Given the description of an element on the screen output the (x, y) to click on. 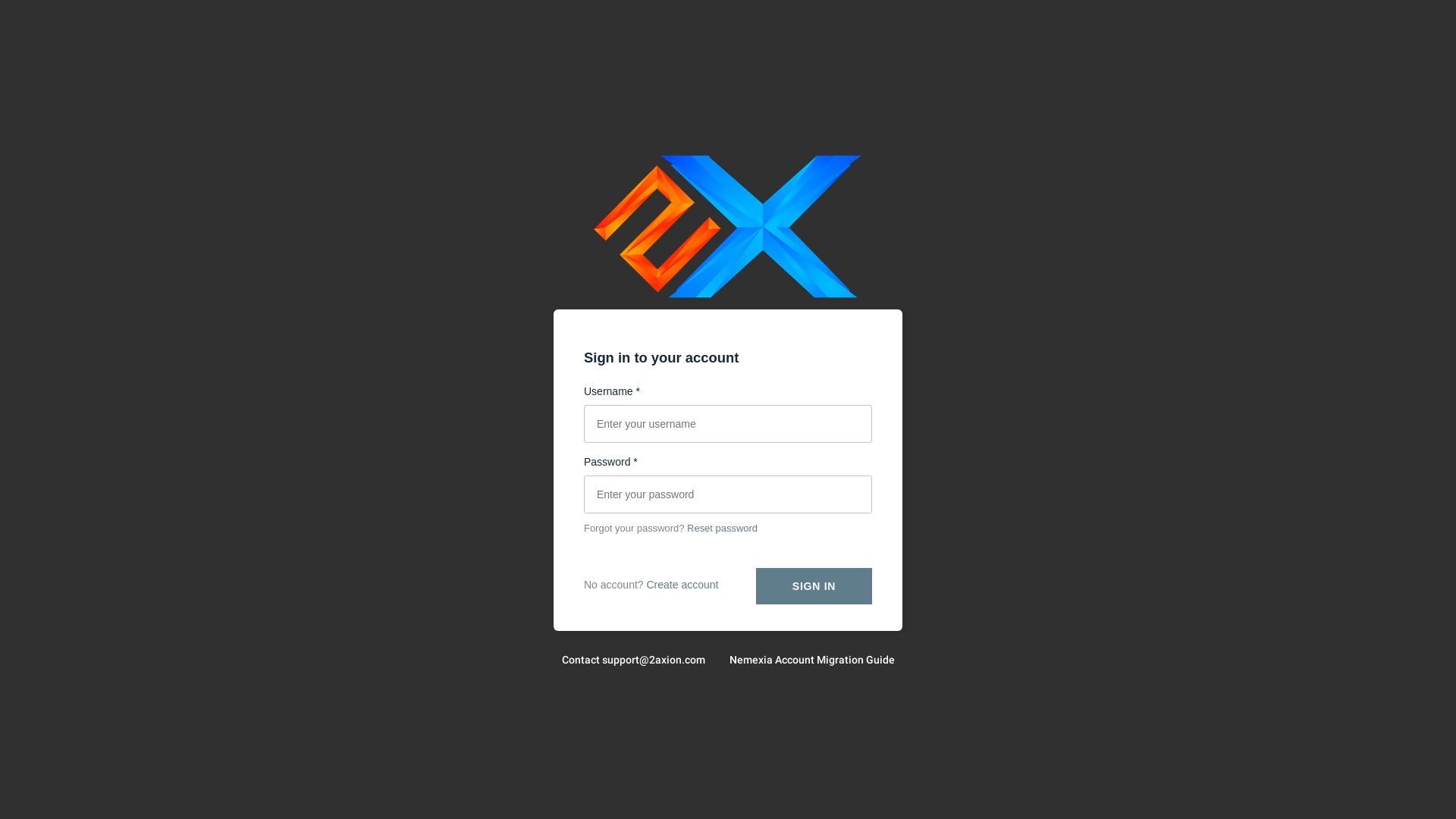
Nemexia Account Migration Guide Element type: text (811, 659)
Contact support@2axion.com Element type: text (632, 659)
